Given the description of an element on the screen output the (x, y) to click on. 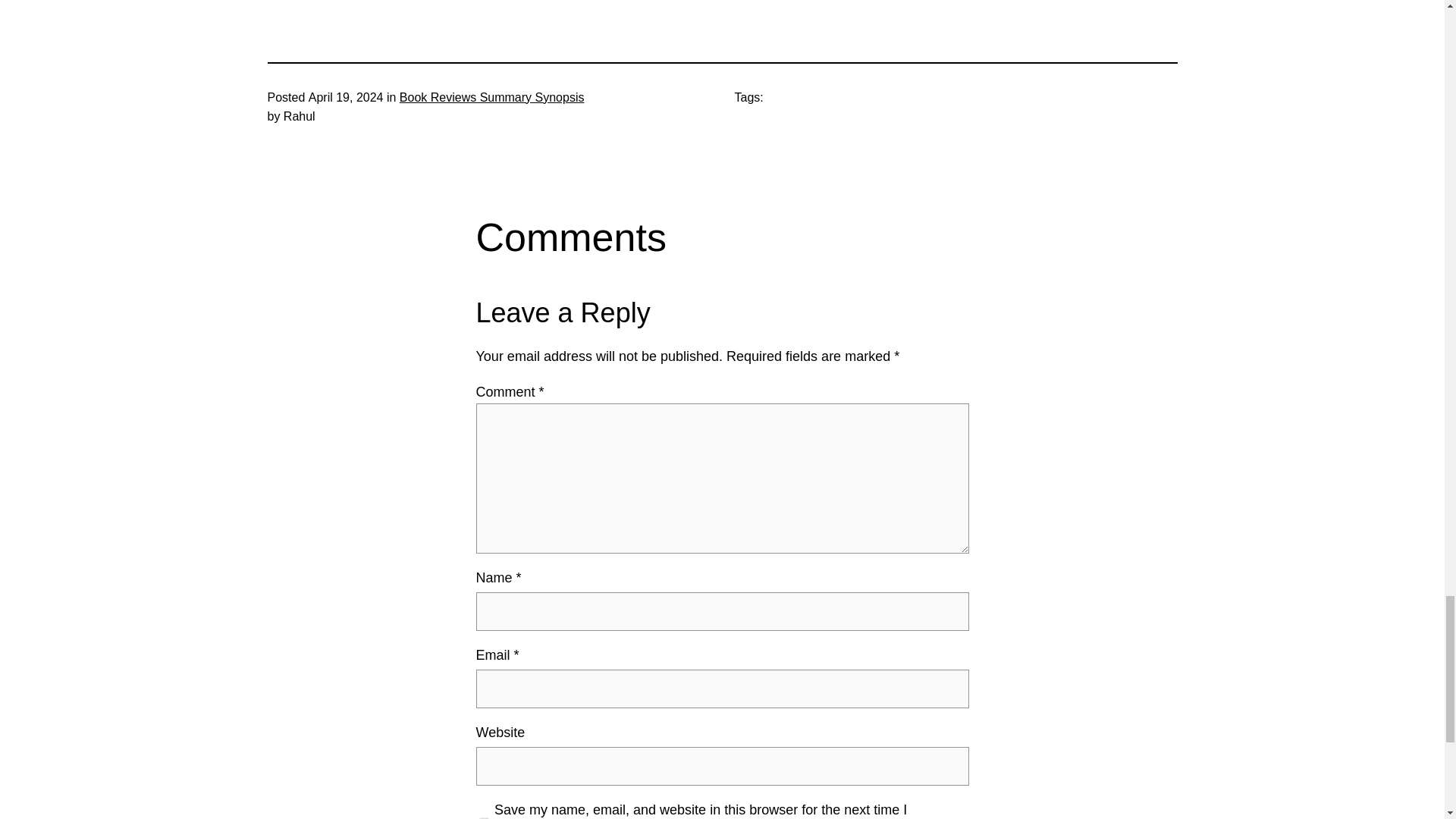
Book Reviews Summary Synopsis (491, 97)
